Given the description of an element on the screen output the (x, y) to click on. 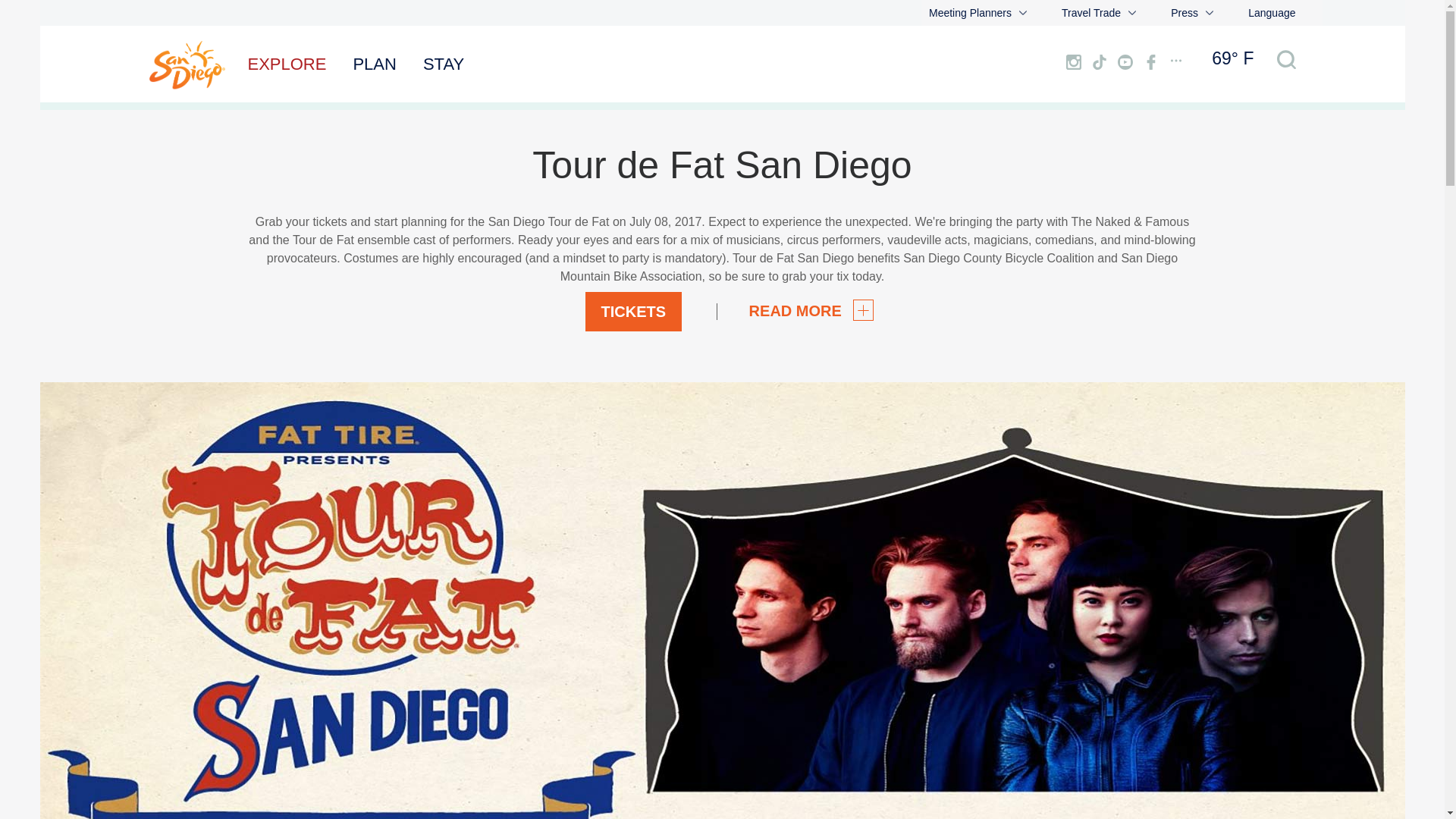
Travel Trade (1098, 12)
EXPLORE (286, 63)
What's New (1198, 10)
Language (1267, 12)
Meeting Planners (977, 12)
Offers (943, 10)
Trade Offers (1091, 10)
Press (1192, 12)
